Given the description of an element on the screen output the (x, y) to click on. 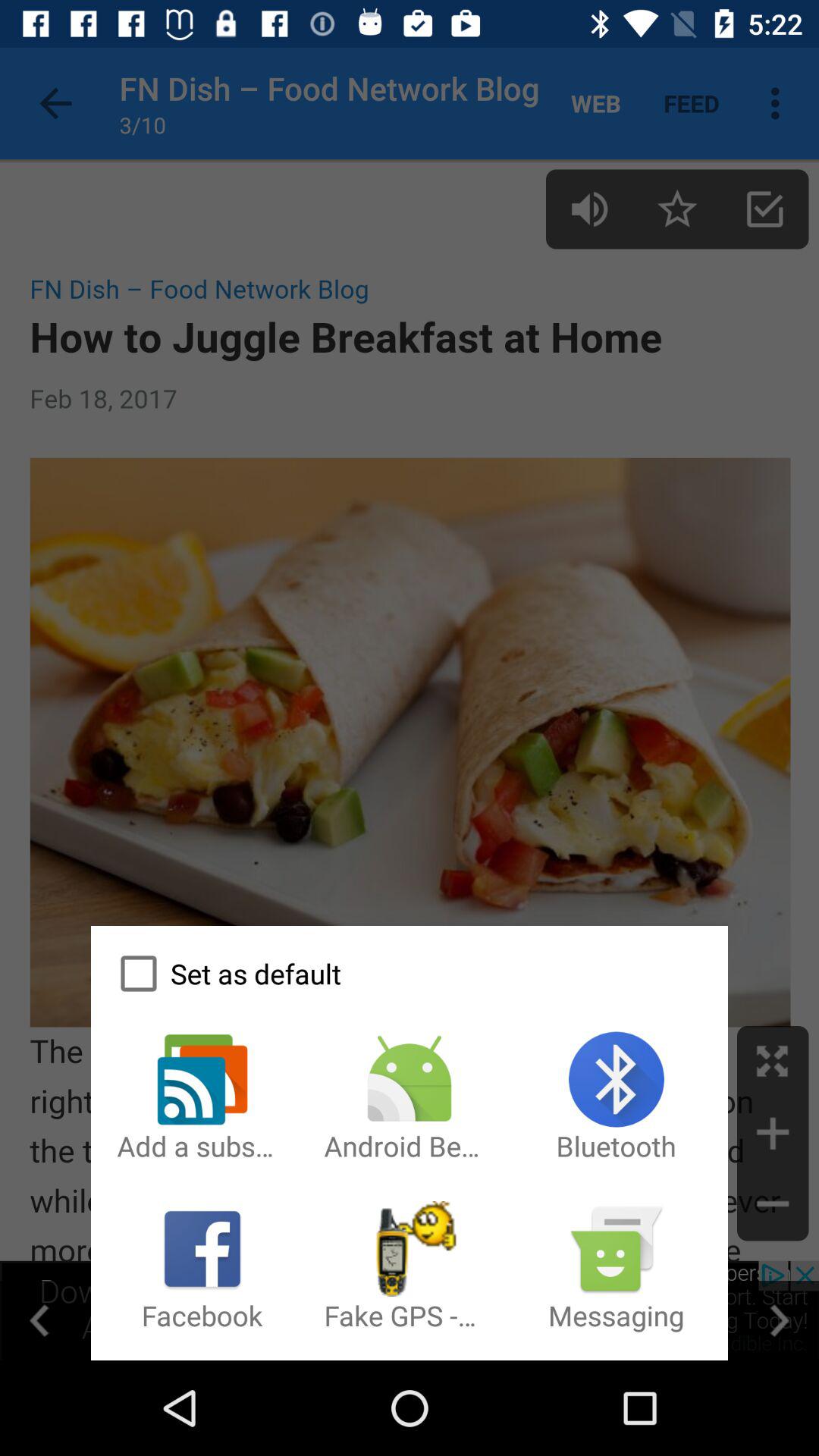
choose set as default (409, 973)
